Given the description of an element on the screen output the (x, y) to click on. 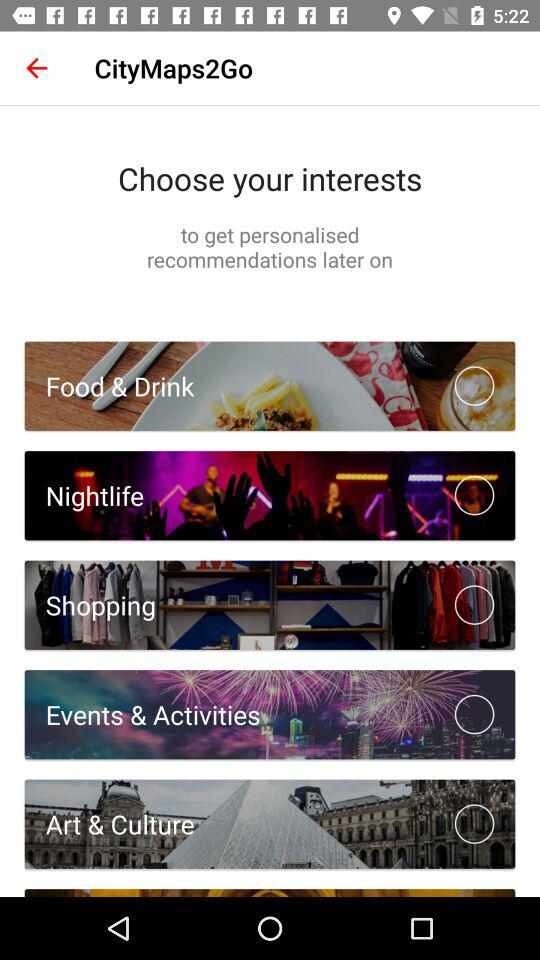
turn off item below choose your interests (270, 246)
